Given the description of an element on the screen output the (x, y) to click on. 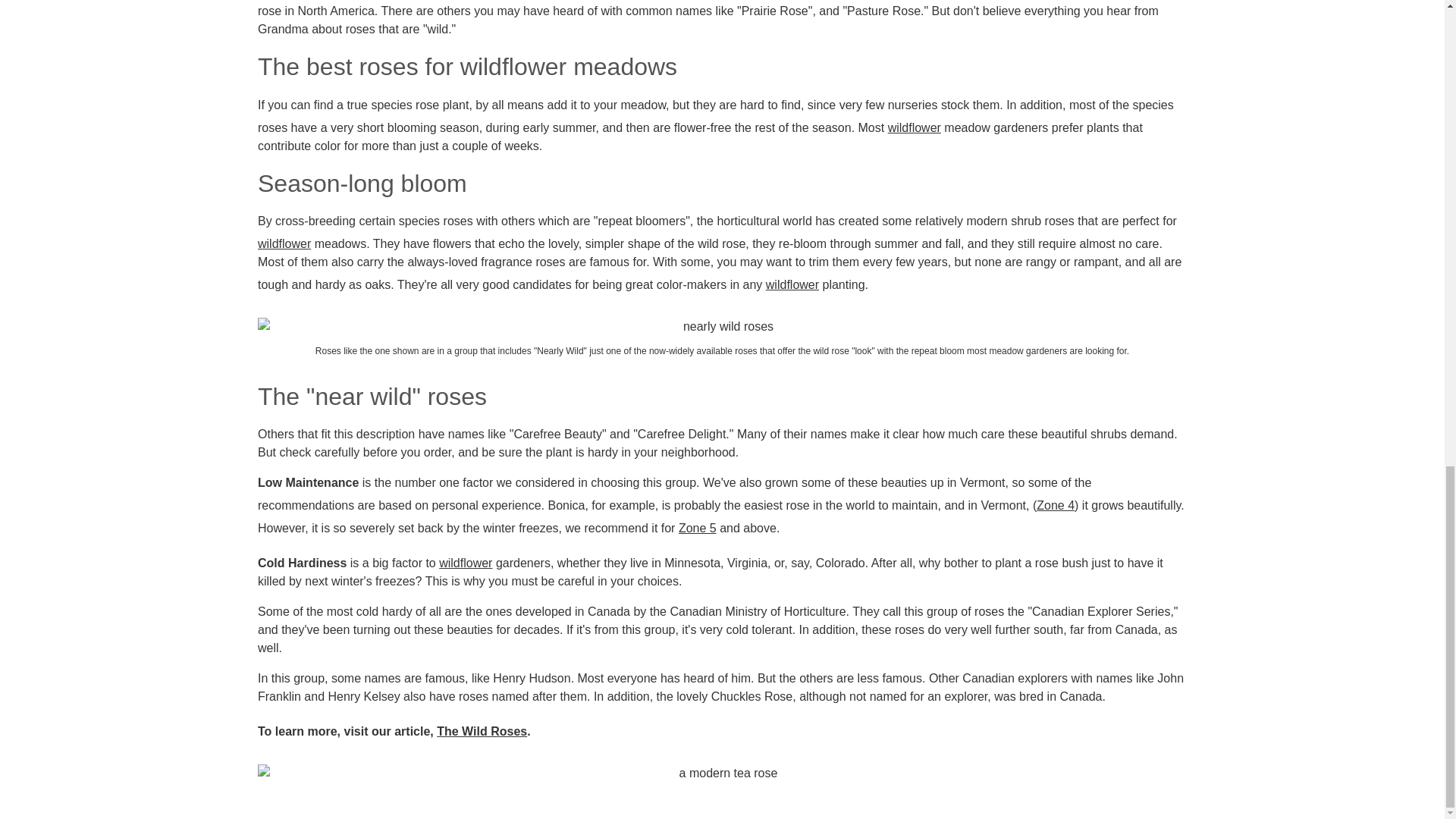
wildflower (284, 244)
Zone 4 (1055, 505)
The Wild Roses (481, 731)
wildflower (465, 563)
The Wild Roses (481, 731)
Zone 5 (697, 528)
wildflower (914, 127)
wildflower (791, 285)
